Given the description of an element on the screen output the (x, y) to click on. 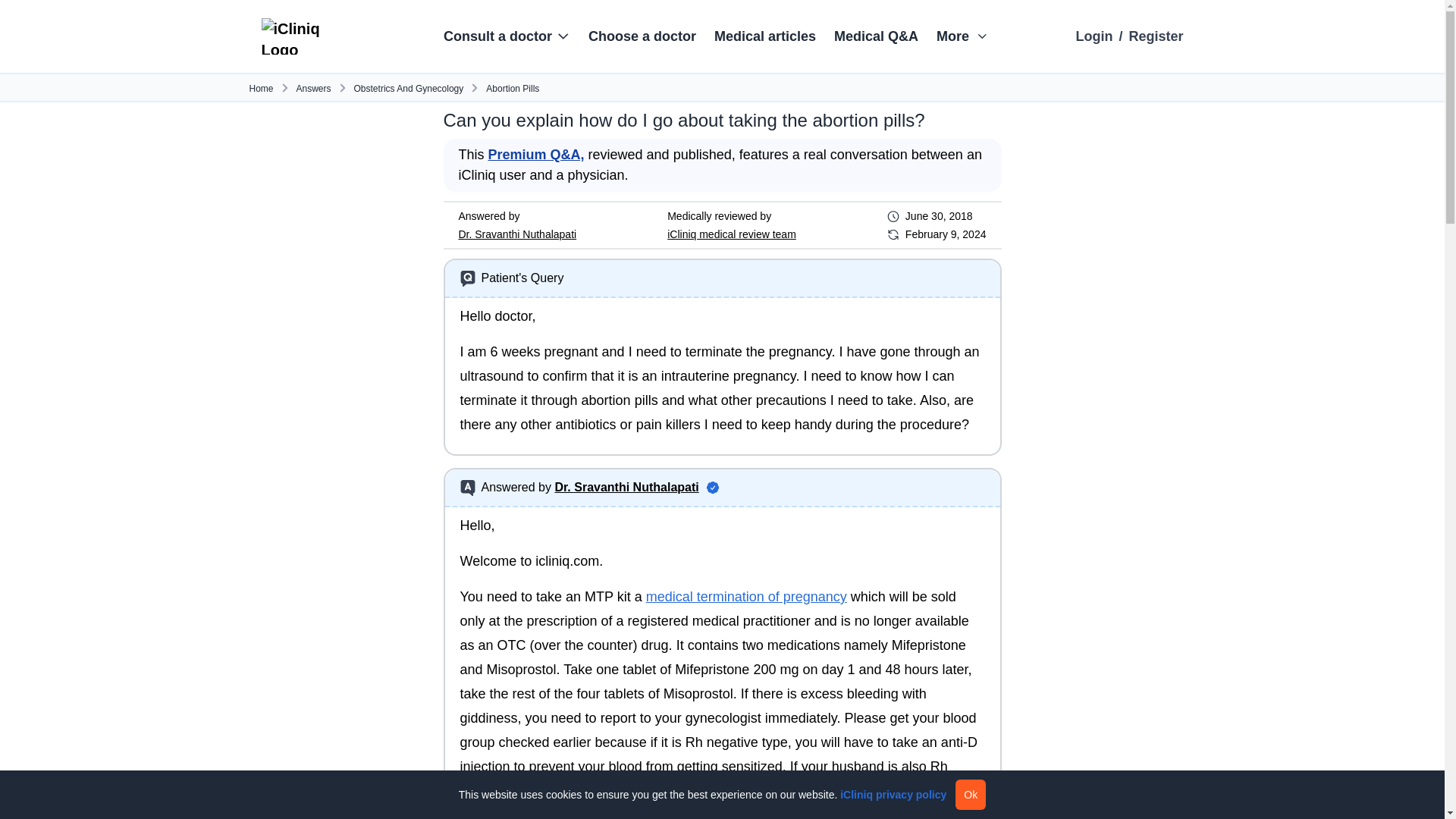
Register (1155, 36)
Choose a doctor (641, 36)
Medical articles (764, 36)
Login (1093, 36)
